Given the description of an element on the screen output the (x, y) to click on. 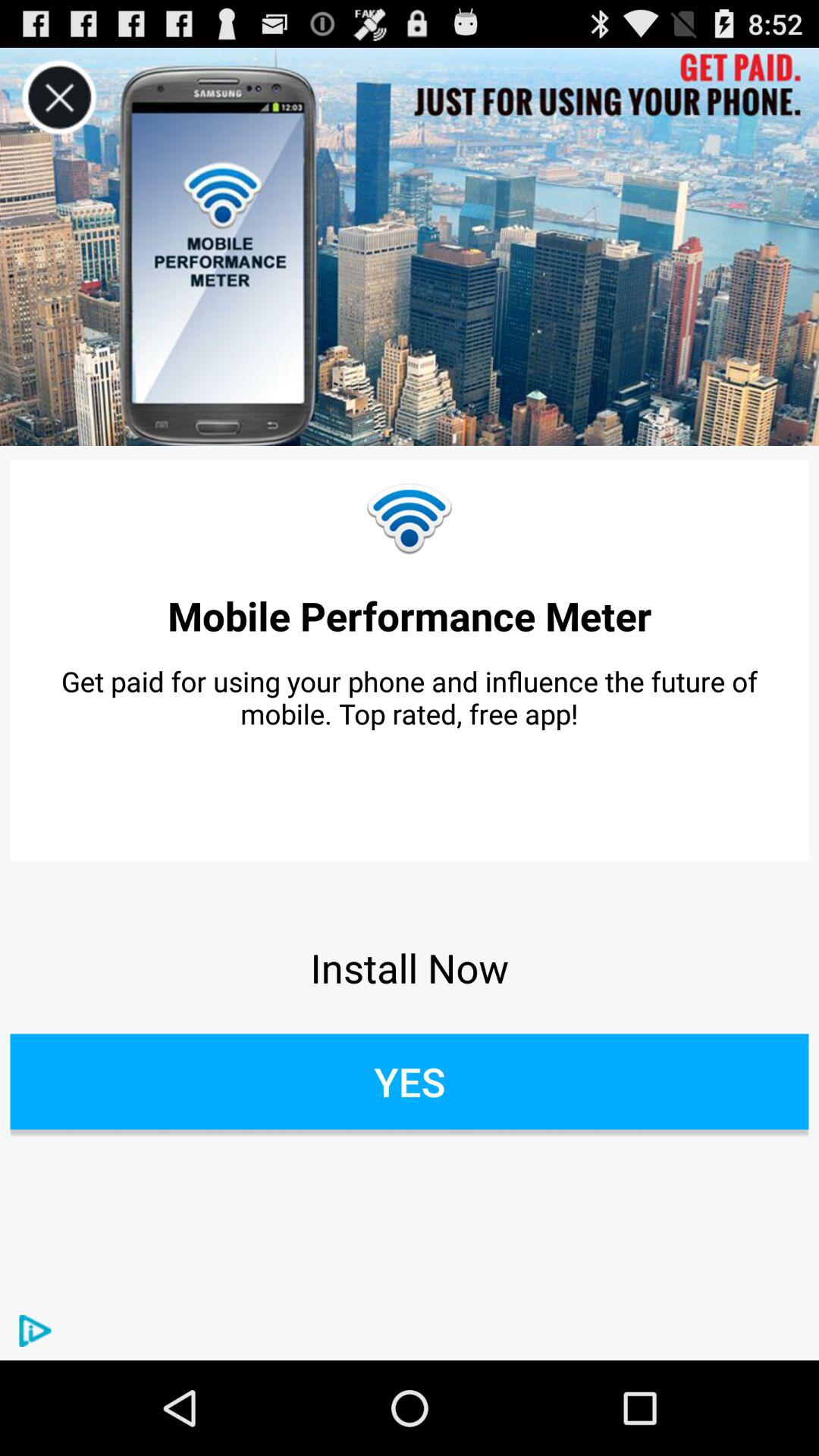
turn on the install now item (409, 967)
